Given the description of an element on the screen output the (x, y) to click on. 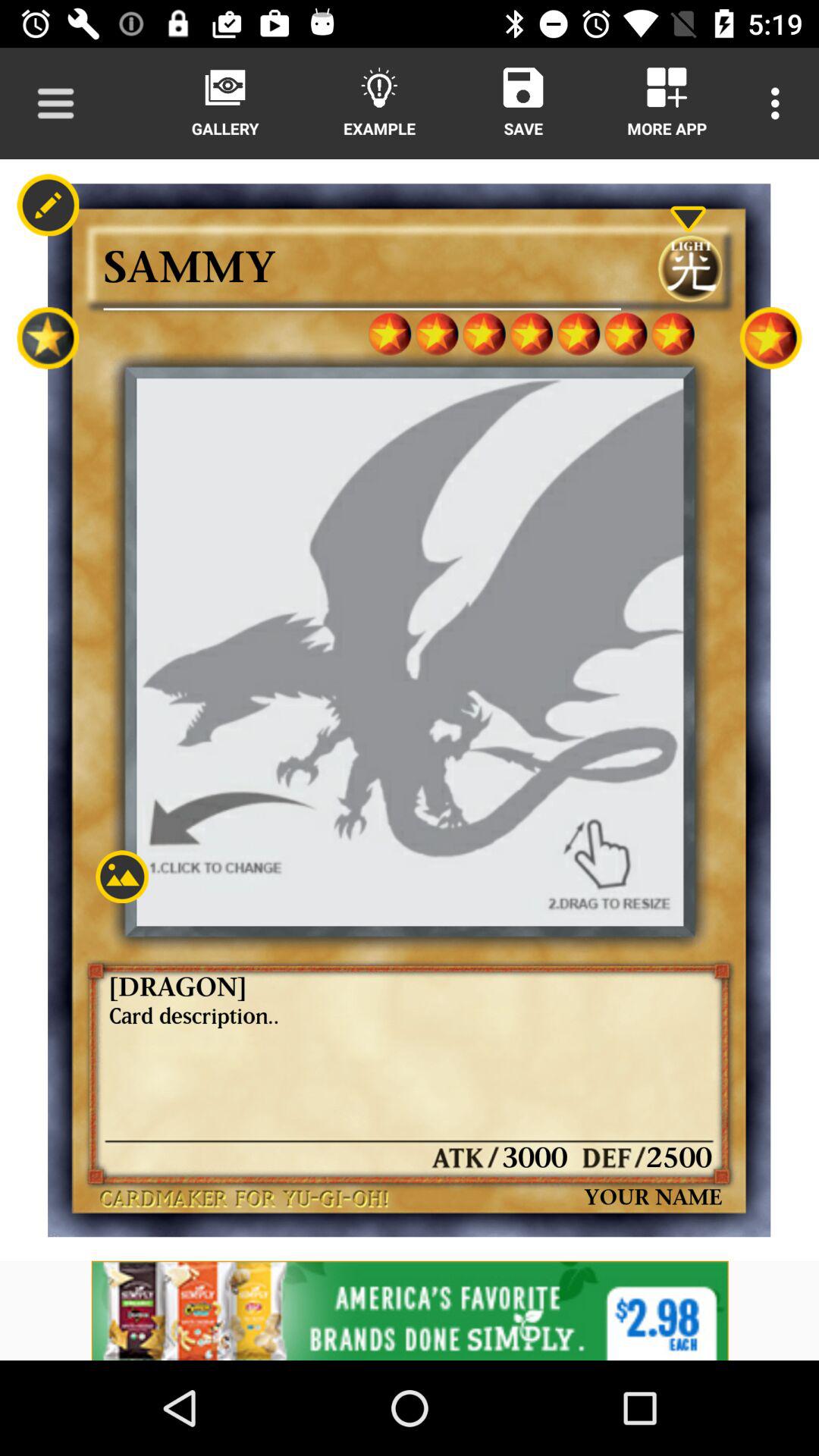
game button (770, 338)
